Given the description of an element on the screen output the (x, y) to click on. 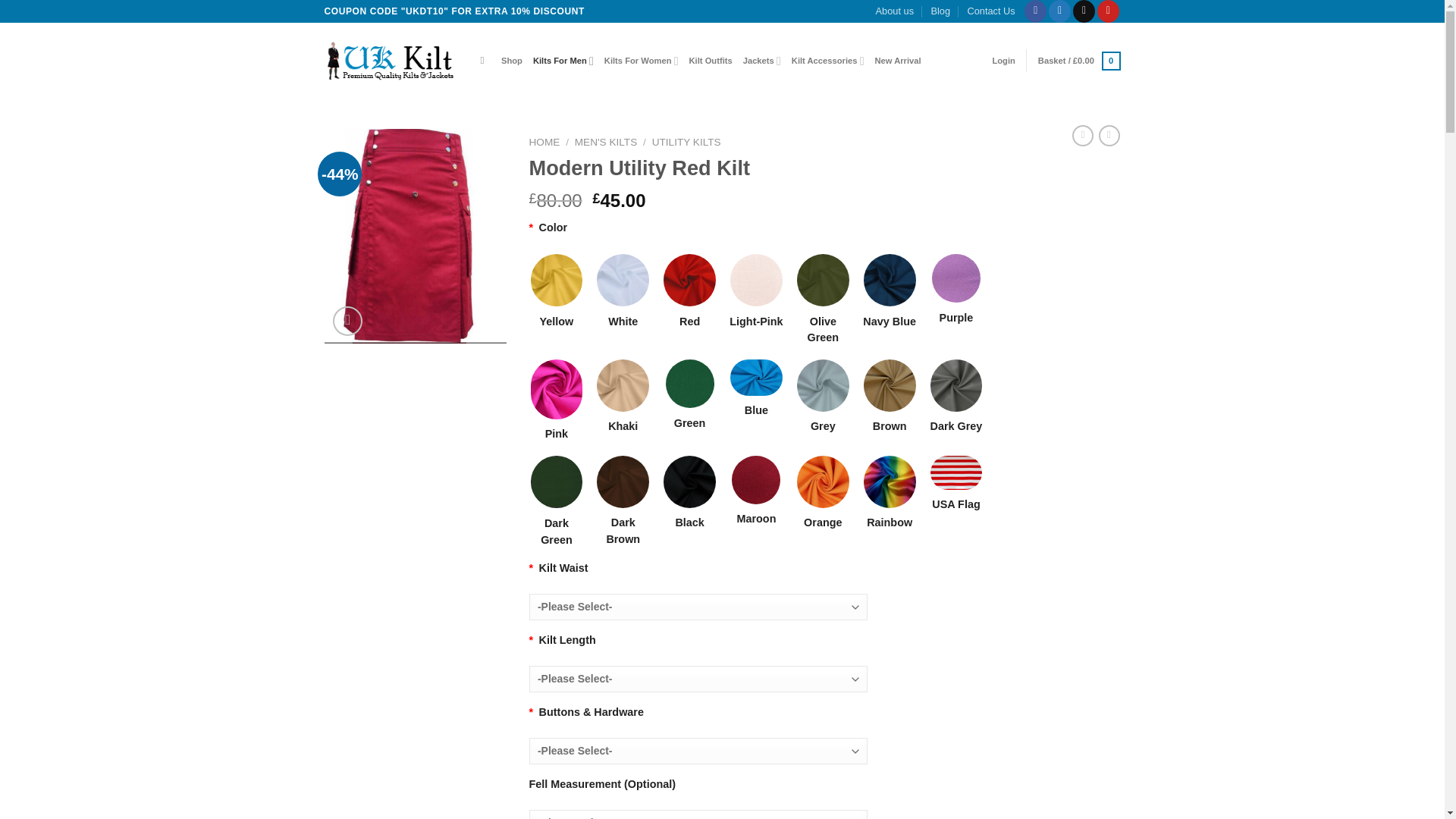
Kilts For Women (641, 60)
Send us an email (1083, 11)
Kilts For Men (563, 60)
Jackets (761, 60)
Follow on Twitter (1059, 11)
Follow on Facebook (1035, 11)
Contact Us (990, 11)
Follow on Pinterest (1108, 11)
About us (895, 11)
Zoom (347, 320)
Basket (1079, 60)
Kilt Outfits (710, 60)
